Given the description of an element on the screen output the (x, y) to click on. 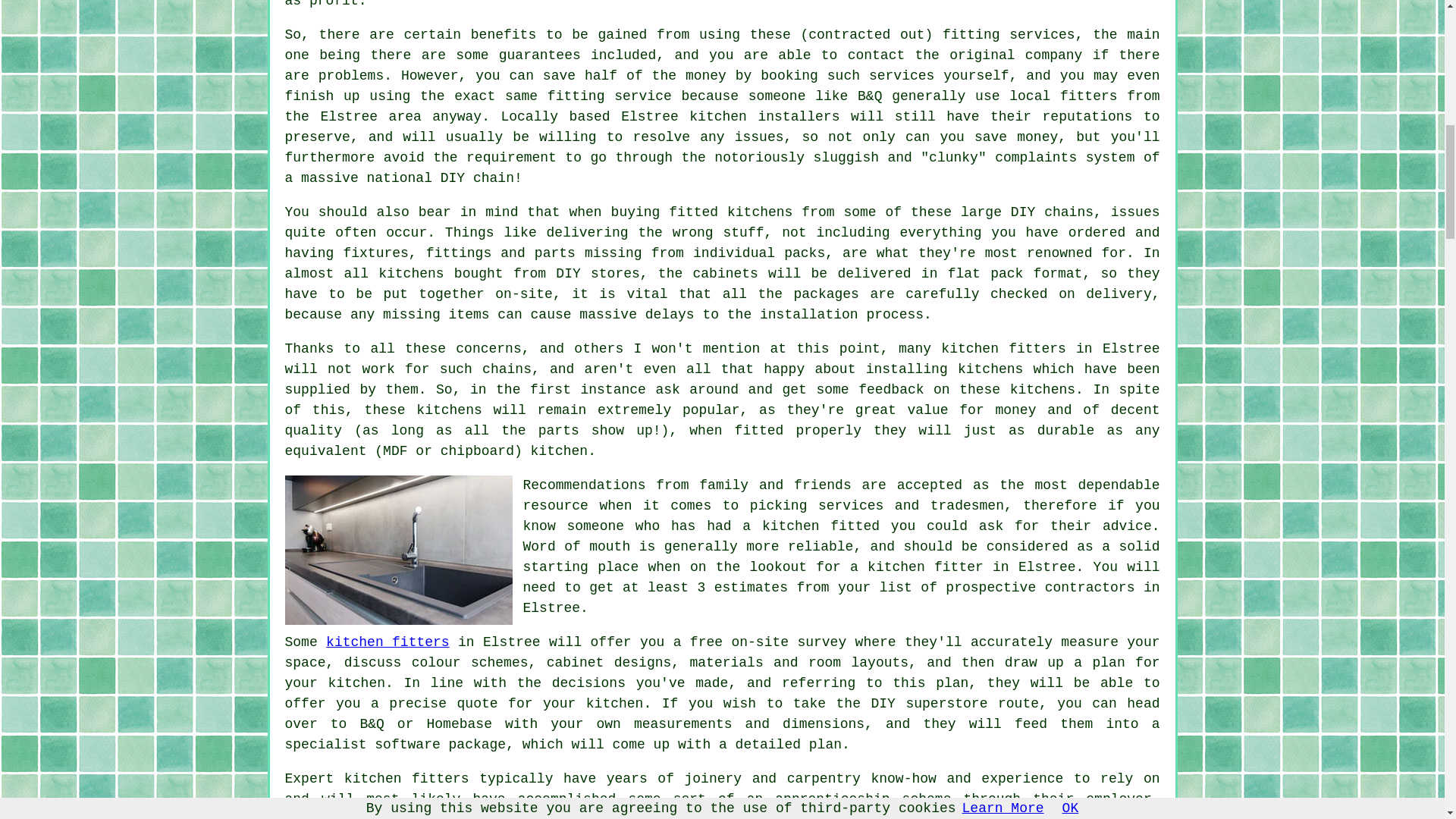
kitchens (448, 409)
quote (477, 703)
kitchen fitters (387, 642)
a kitchen fitted (810, 525)
